Given the description of an element on the screen output the (x, y) to click on. 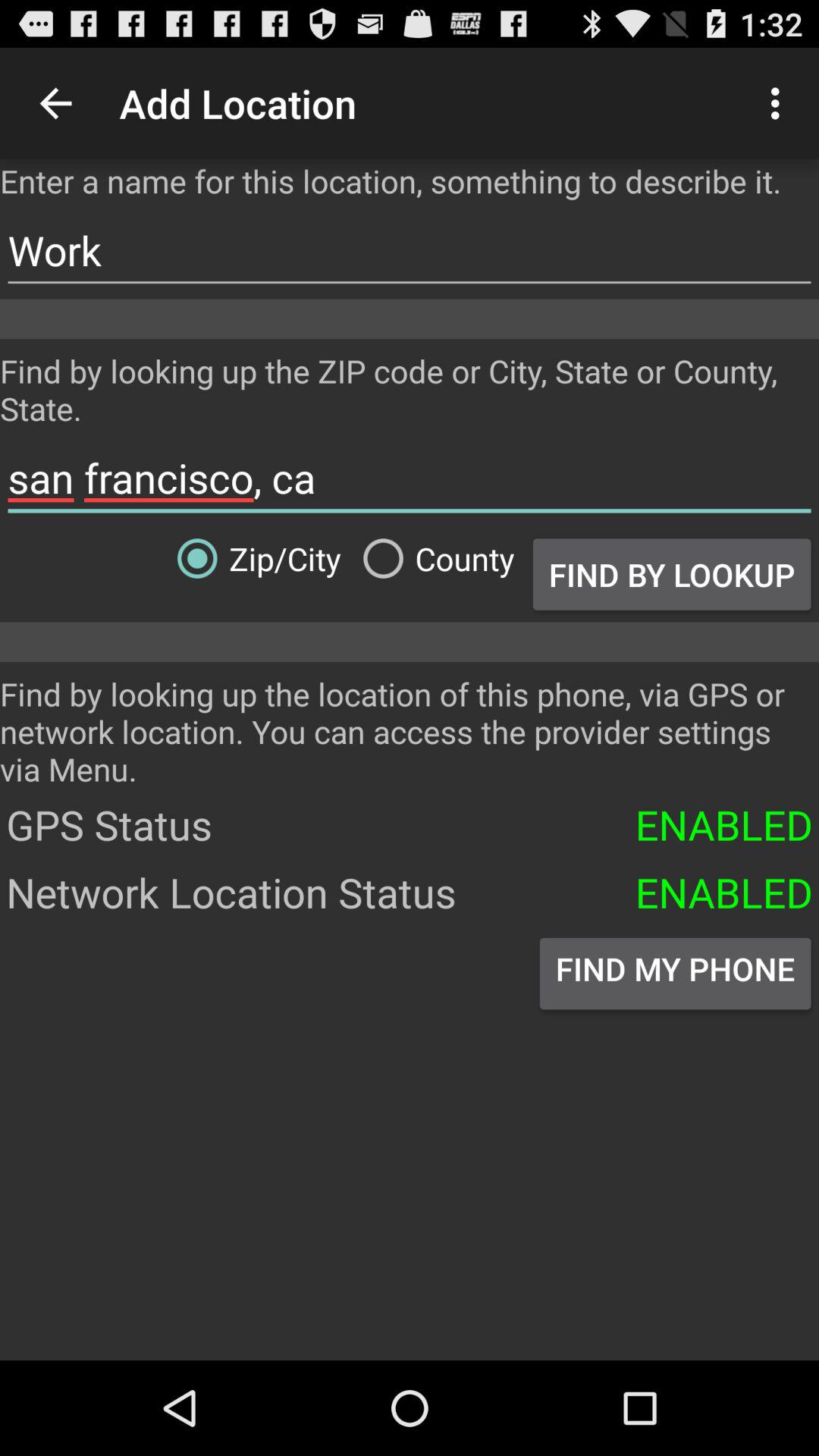
tap the work icon (409, 250)
